Given the description of an element on the screen output the (x, y) to click on. 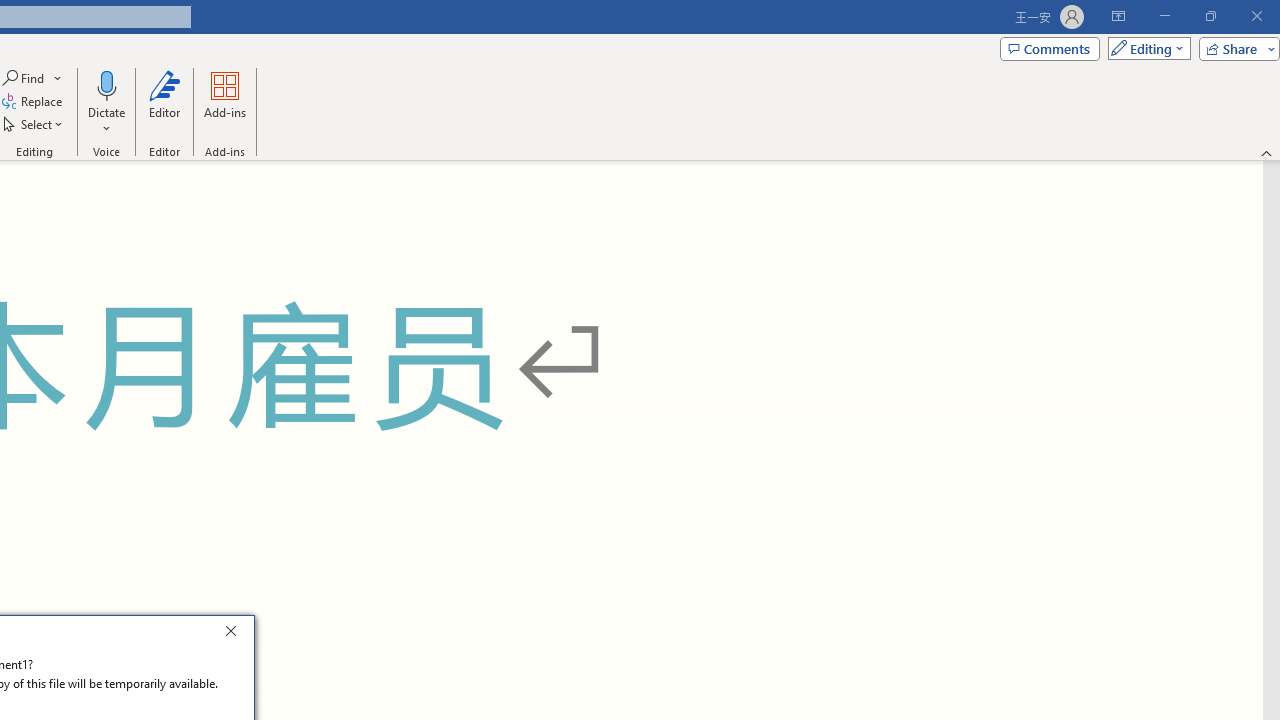
Comments (1049, 48)
Editor (164, 102)
Editing (1144, 47)
Close (236, 633)
Ribbon Display Options (1118, 16)
Collapse the Ribbon (1267, 152)
Share (1235, 48)
Restore Down (1210, 16)
Minimize (1164, 16)
More Options (106, 121)
Dictate (106, 84)
Dictate (106, 102)
